Given the description of an element on the screen output the (x, y) to click on. 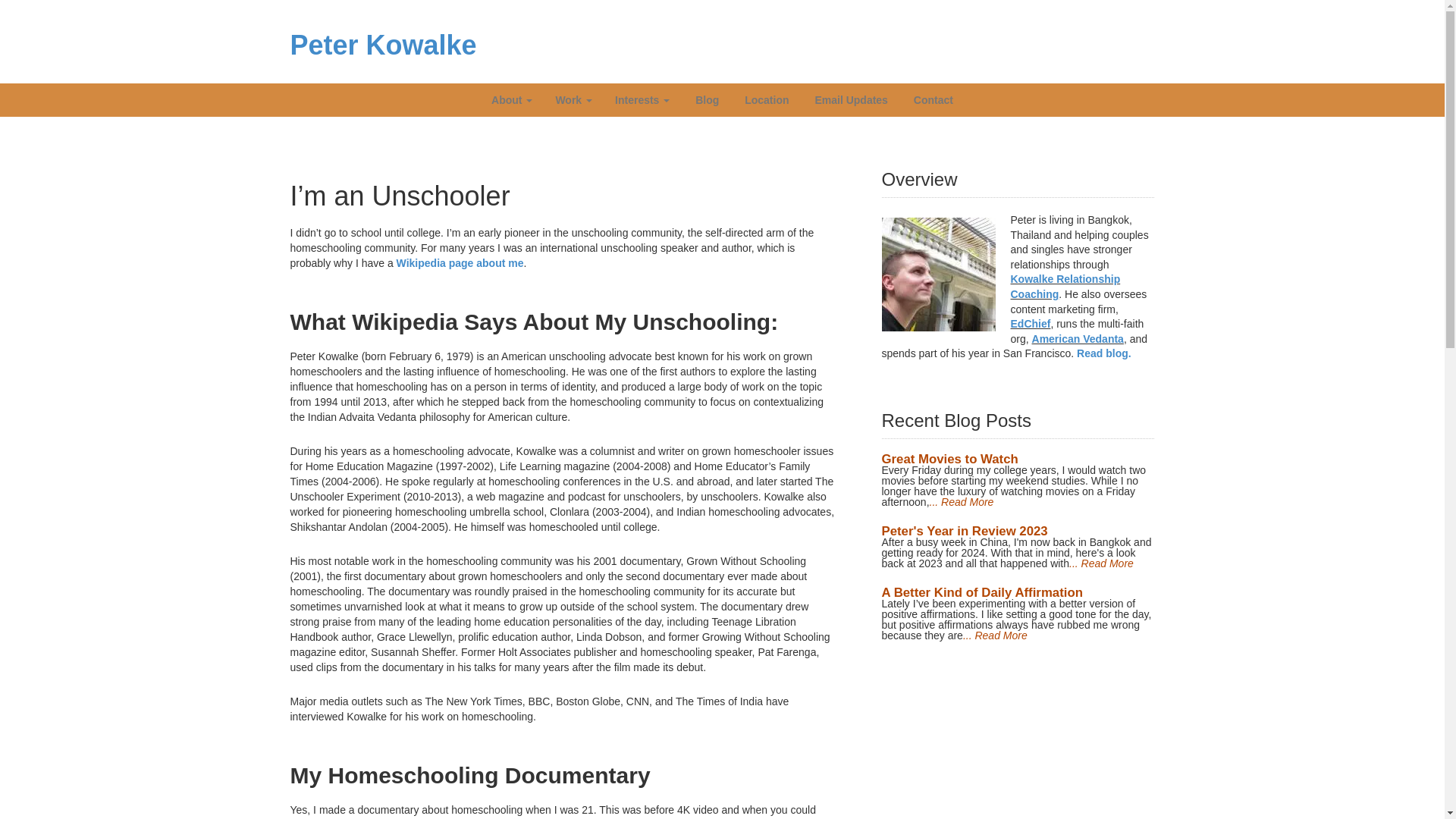
EdChief (1029, 323)
... Read More (994, 635)
 Location (764, 100)
About (511, 100)
 Email Updates (849, 100)
 Contact (931, 100)
American Vedanta (1078, 338)
A Better Kind of Daily Affirmation (980, 592)
Read blog. (1104, 353)
Work (573, 100)
